Given the description of an element on the screen output the (x, y) to click on. 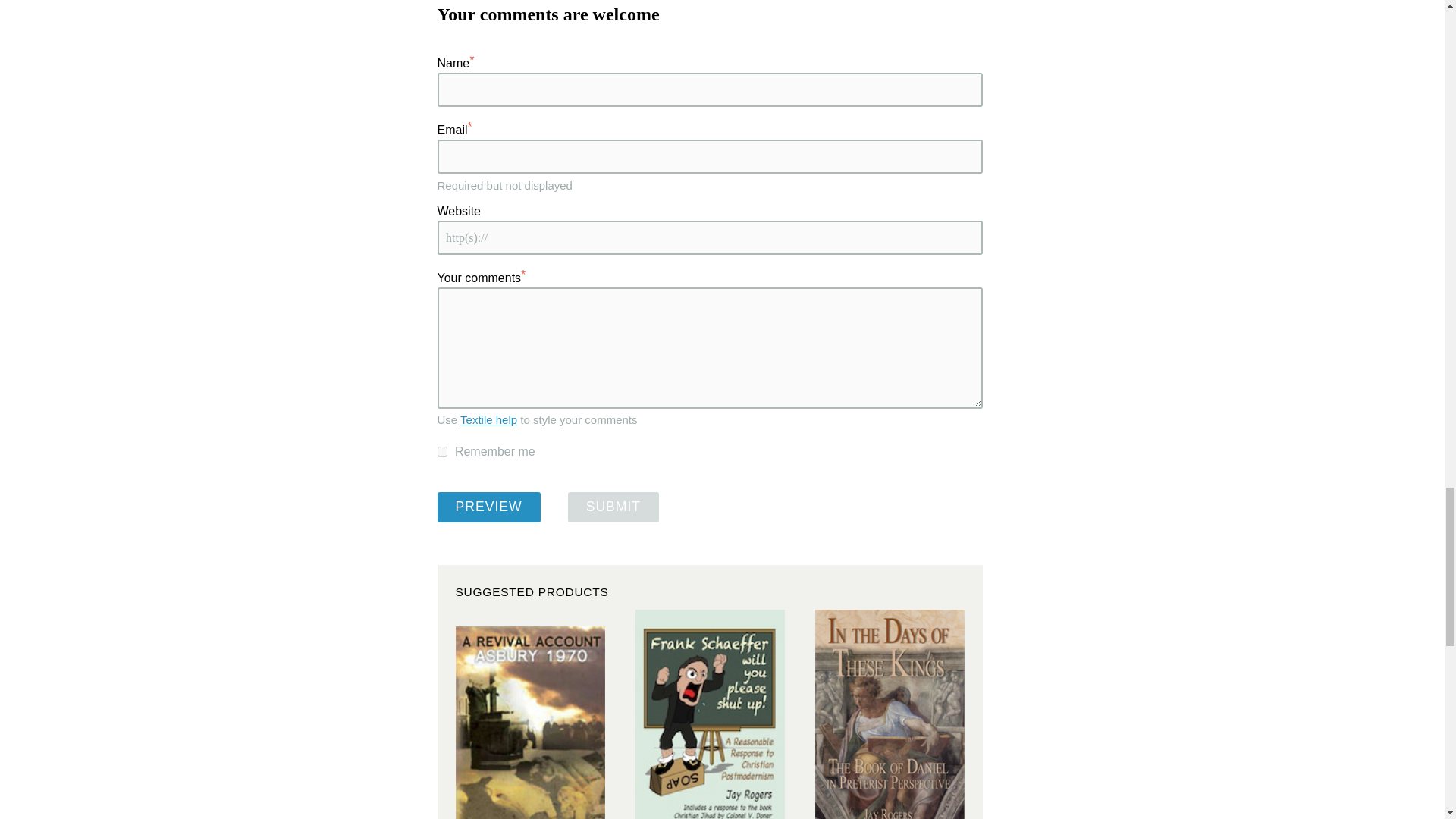
1 (441, 451)
Textile help (488, 419)
Preview (488, 507)
Submit (613, 507)
Submit (613, 507)
Preview (488, 507)
